Given the description of an element on the screen output the (x, y) to click on. 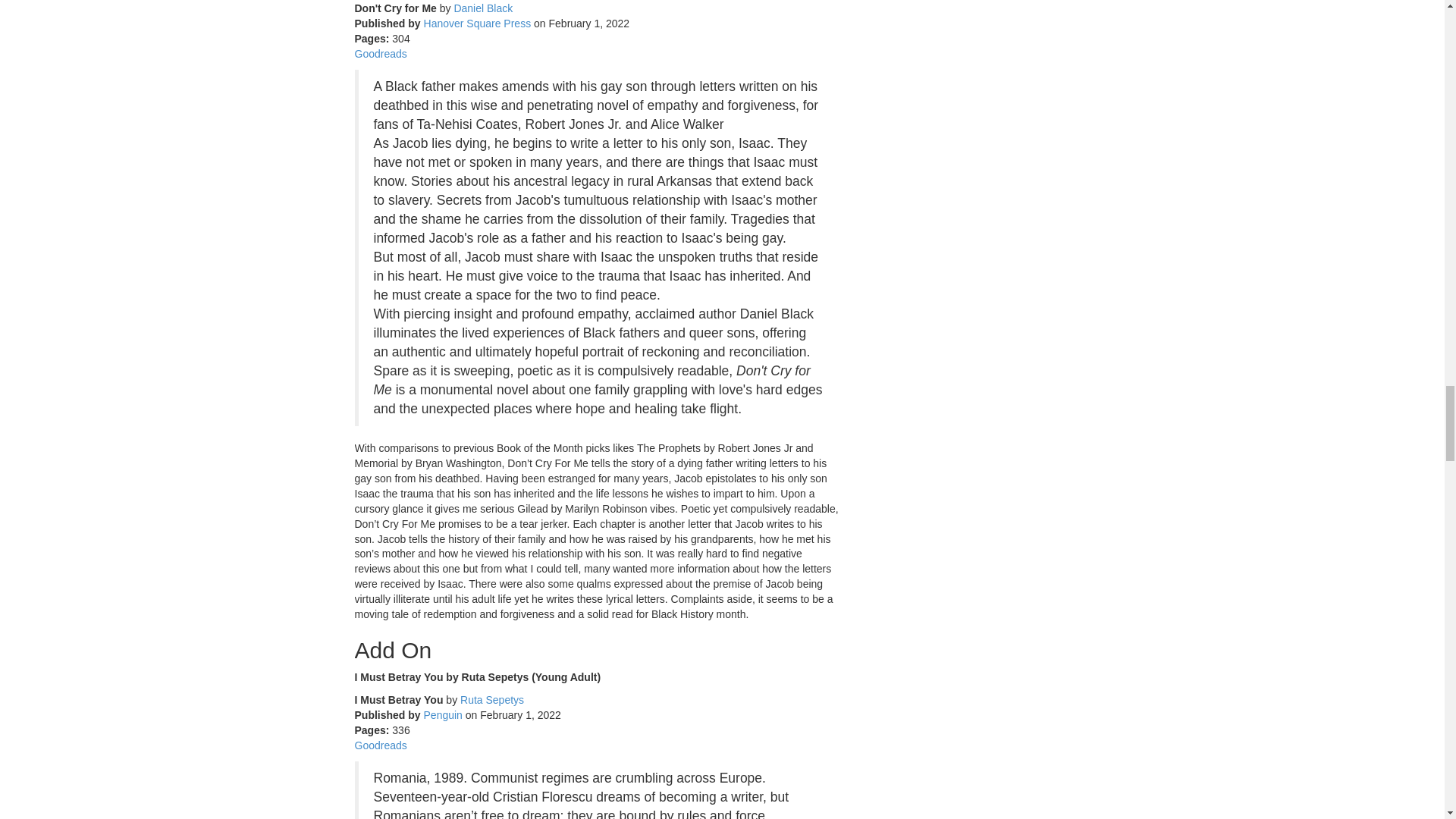
Goodreads (381, 53)
Goodreads (381, 745)
Ruta Sepetys (492, 699)
Daniel Black (482, 8)
Penguin (443, 715)
Hanover Square Press (477, 23)
